Given the description of an element on the screen output the (x, y) to click on. 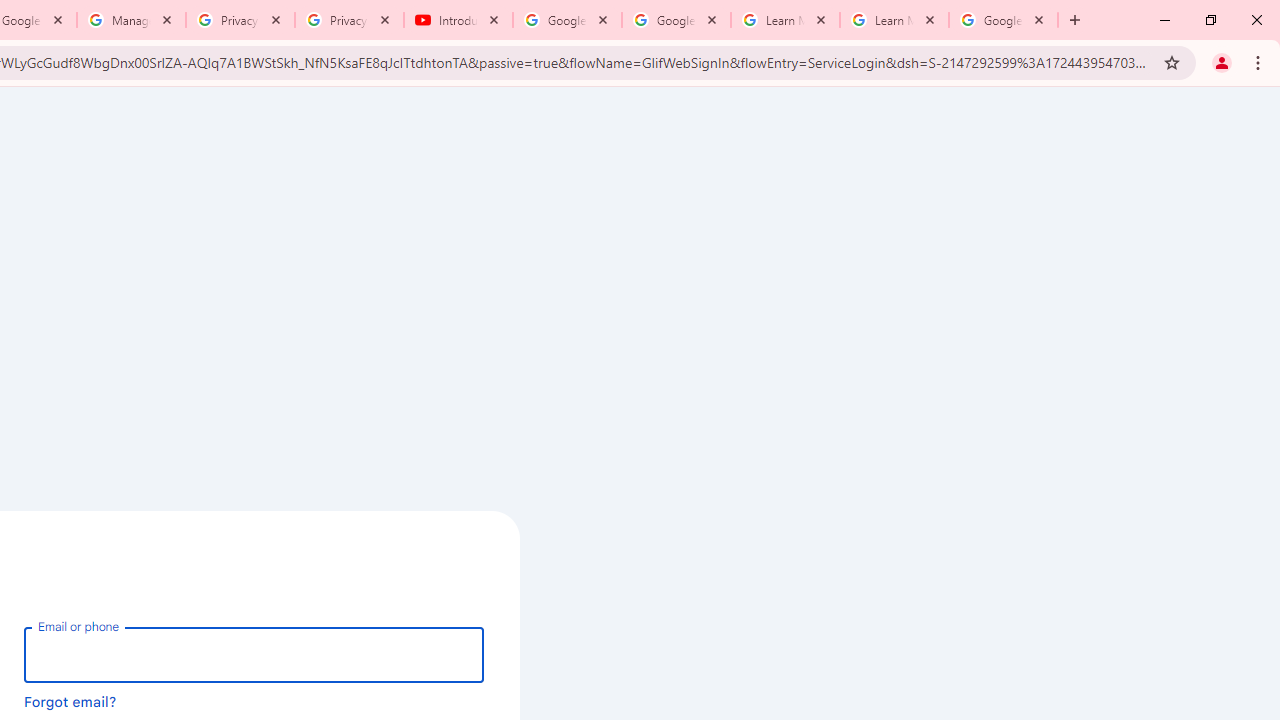
Forgot email? (70, 701)
Introduction | Google Privacy Policy - YouTube (458, 20)
Google Account Help (676, 20)
Email or phone (253, 654)
Google Account (1003, 20)
